Given the description of an element on the screen output the (x, y) to click on. 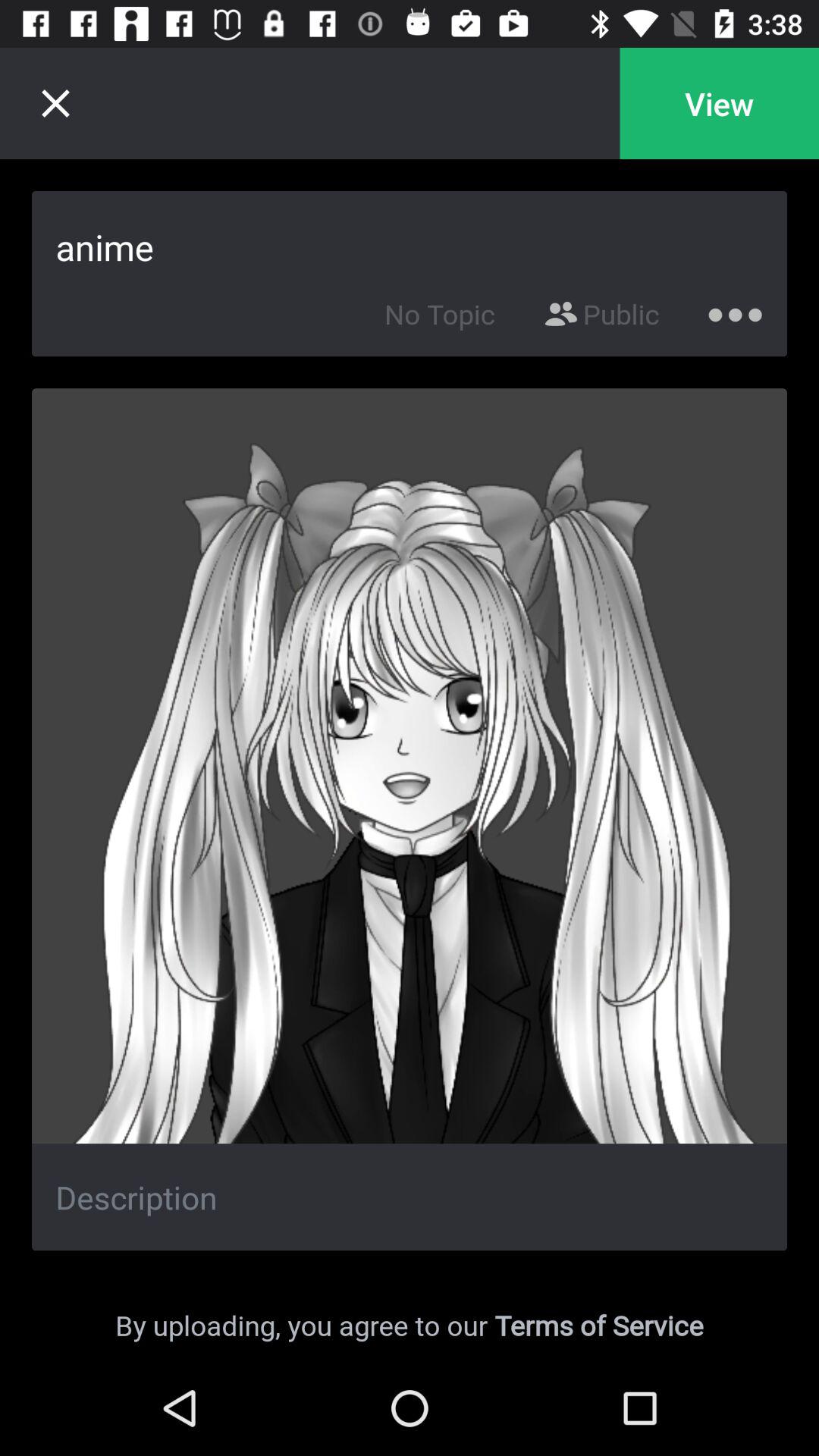
open drop down menu (735, 310)
